Given the description of an element on the screen output the (x, y) to click on. 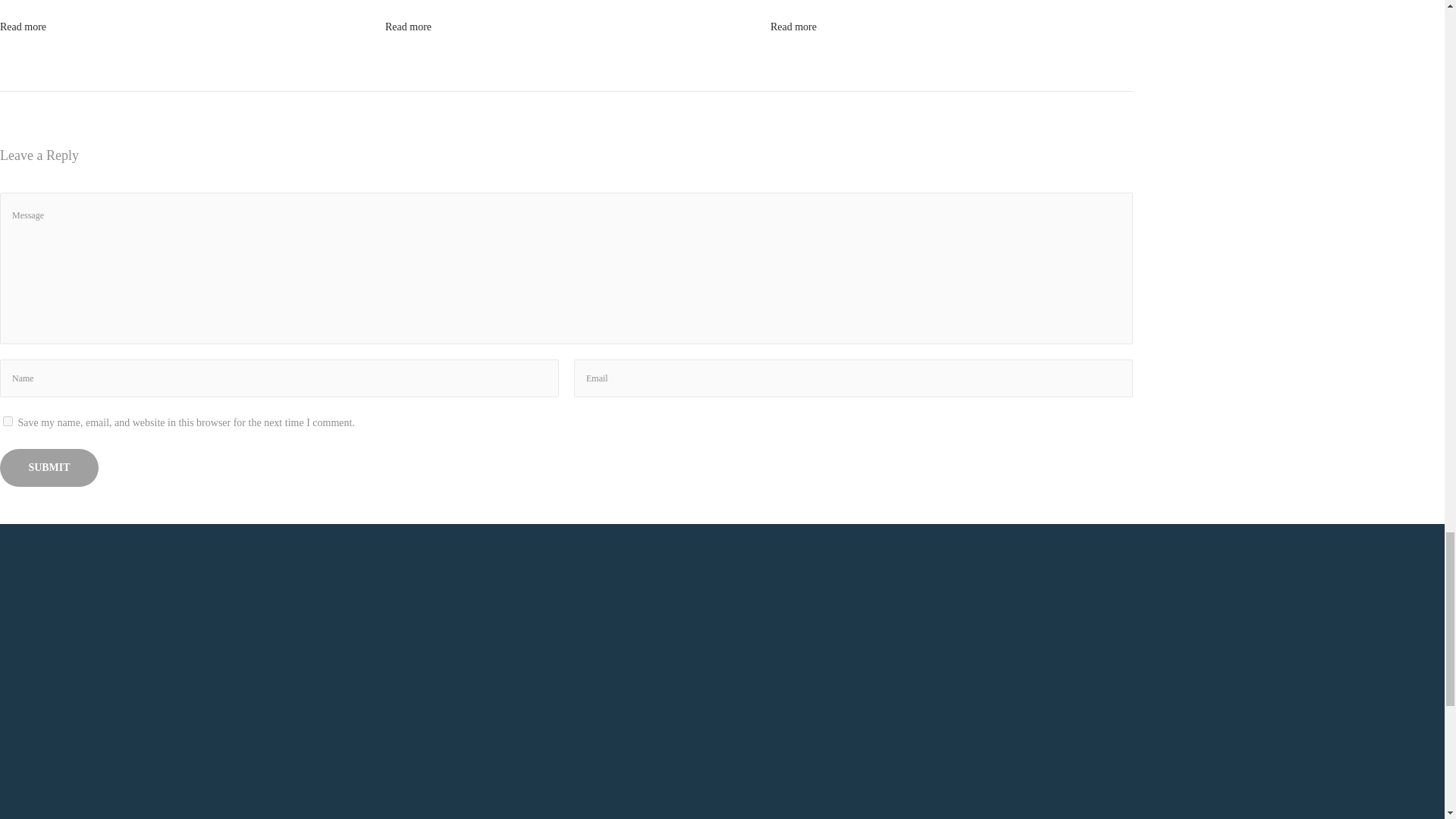
yes (7, 420)
Submit (49, 467)
